Given the description of an element on the screen output the (x, y) to click on. 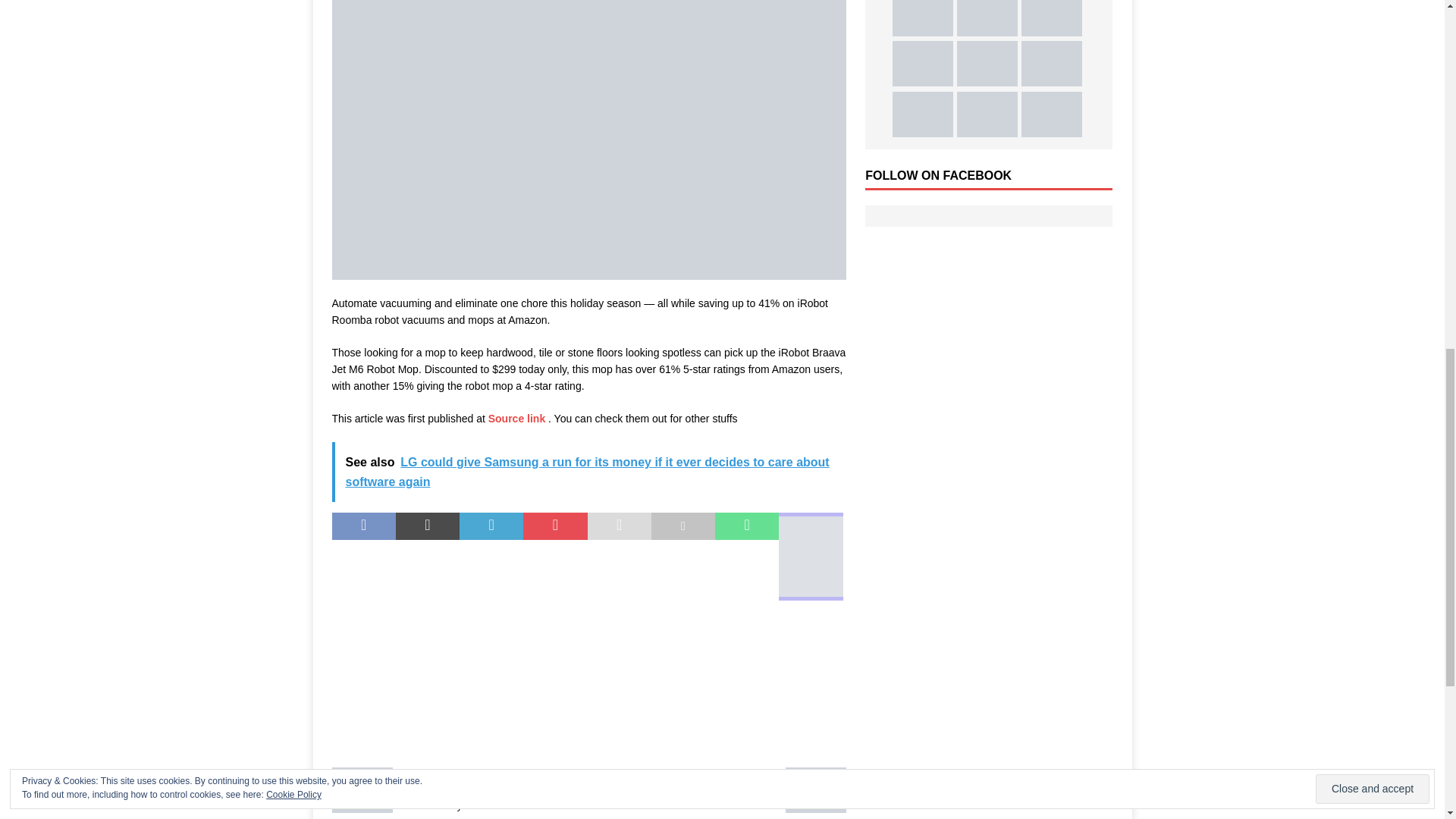
Source link (457, 790)
